Given the description of an element on the screen output the (x, y) to click on. 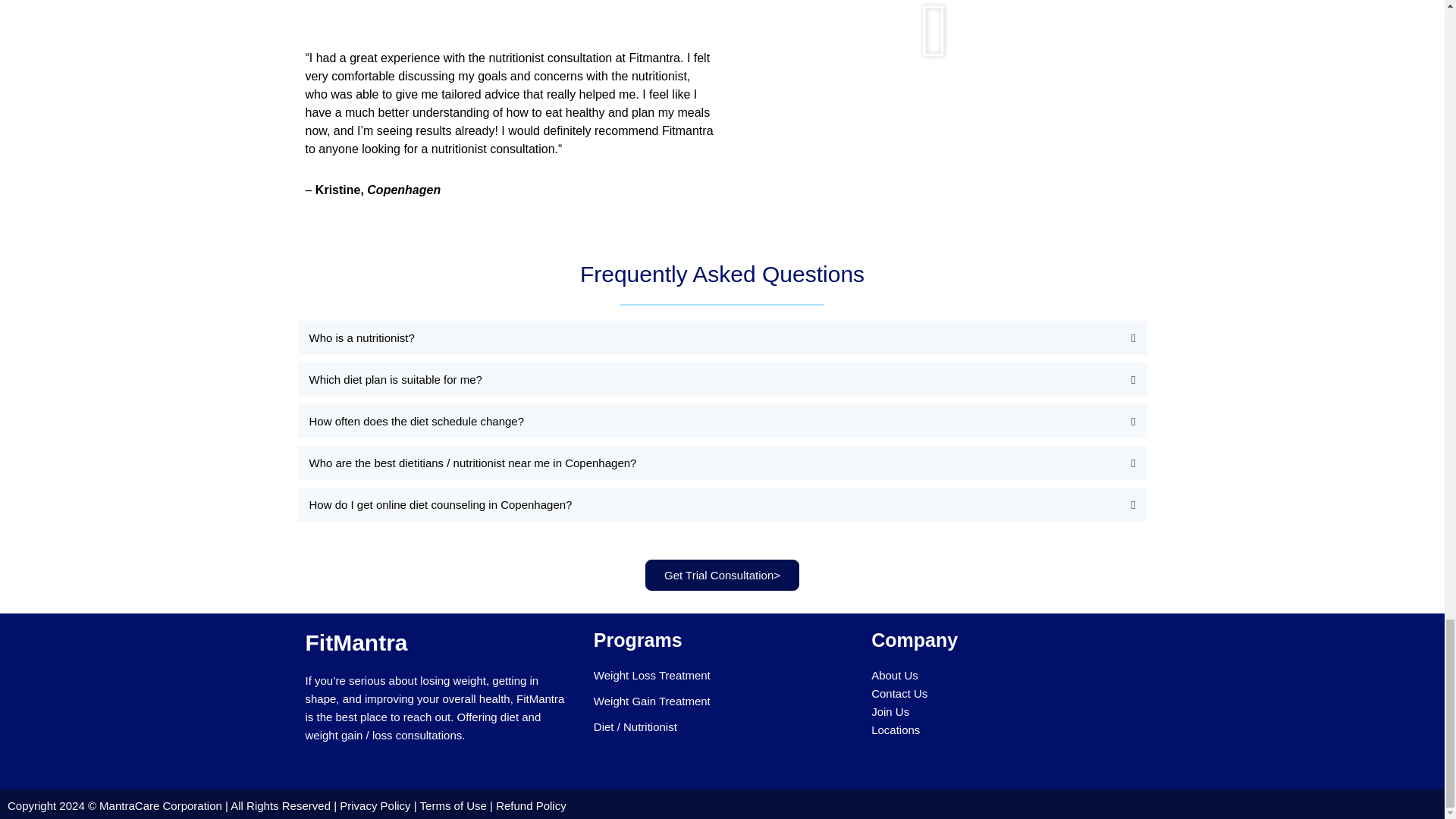
How often does the diet schedule change? (416, 420)
How do I get online diet counseling in Copenhagen? (440, 504)
Weight Gain Treatment (652, 700)
About Us (894, 675)
Locations (895, 729)
Which diet plan is suitable for me? (394, 379)
Privacy Policy (376, 805)
Contact Us (898, 693)
Join Us (889, 711)
Weight Loss Treatment (652, 675)
